Given the description of an element on the screen output the (x, y) to click on. 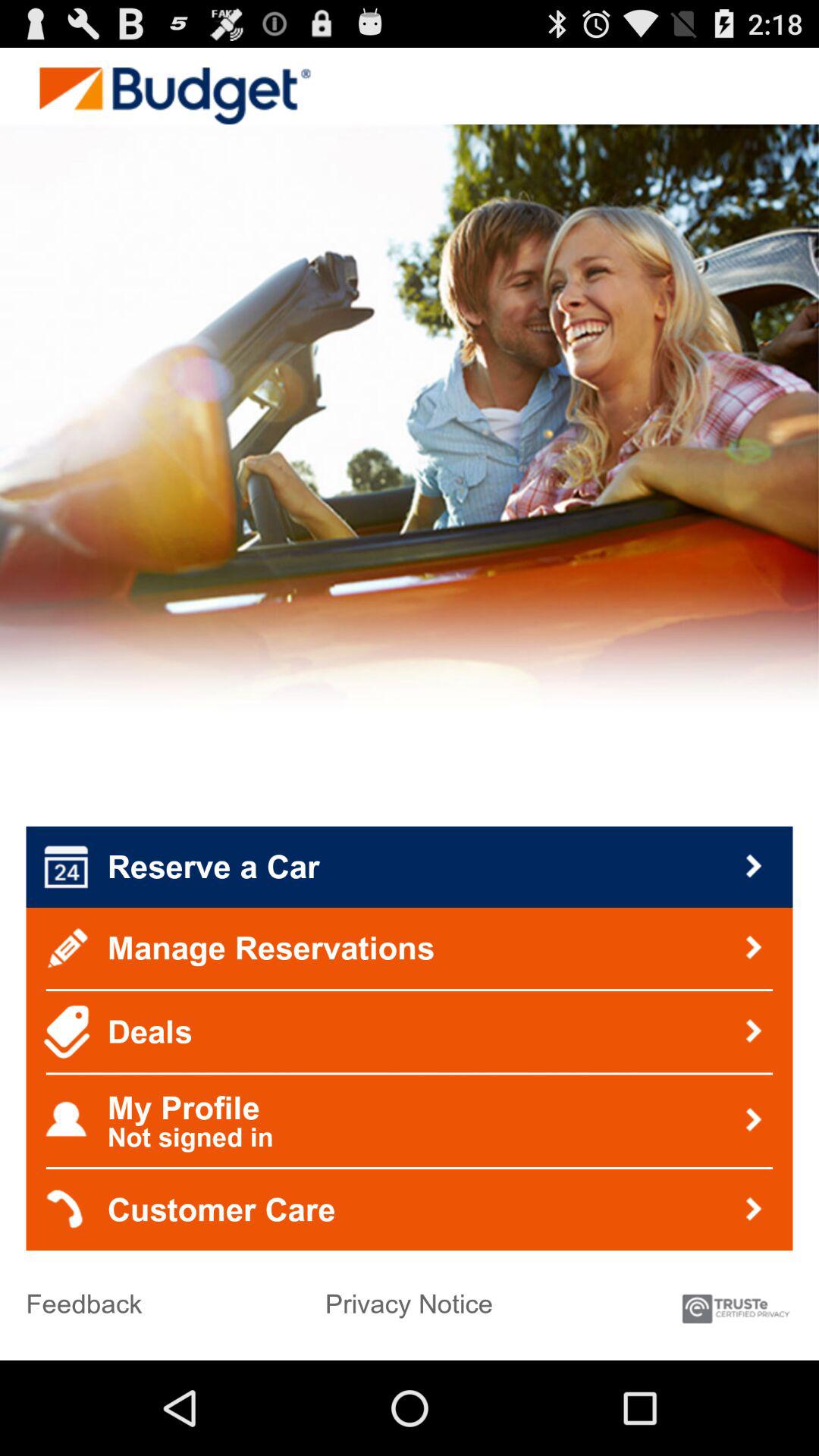
scroll until my profile not (409, 1120)
